Given the description of an element on the screen output the (x, y) to click on. 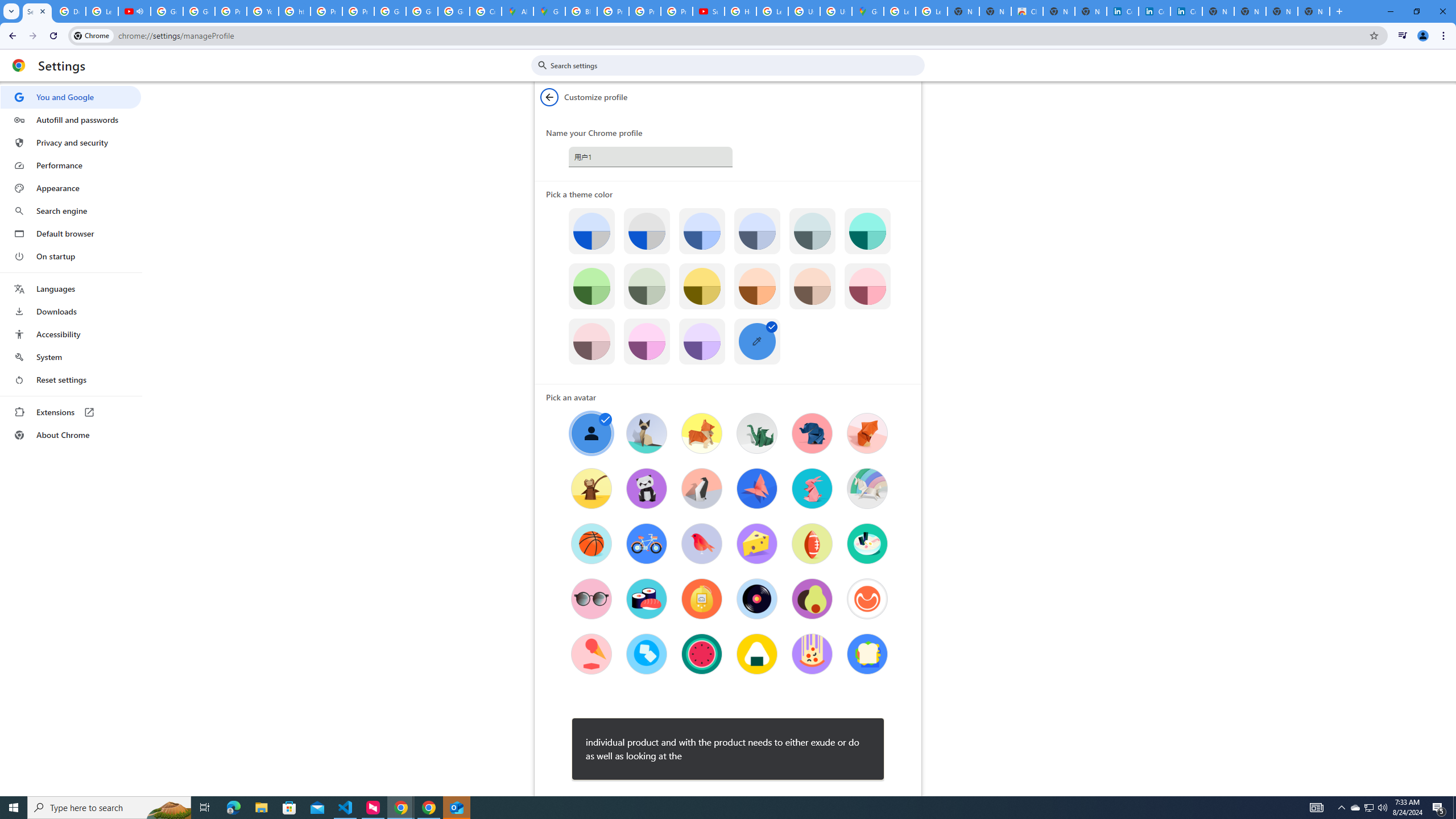
Search engine (70, 210)
About Chrome (70, 434)
YouTube (262, 11)
Autofill and passwords (70, 119)
Cookie Policy | LinkedIn (1154, 11)
